Given the description of an element on the screen output the (x, y) to click on. 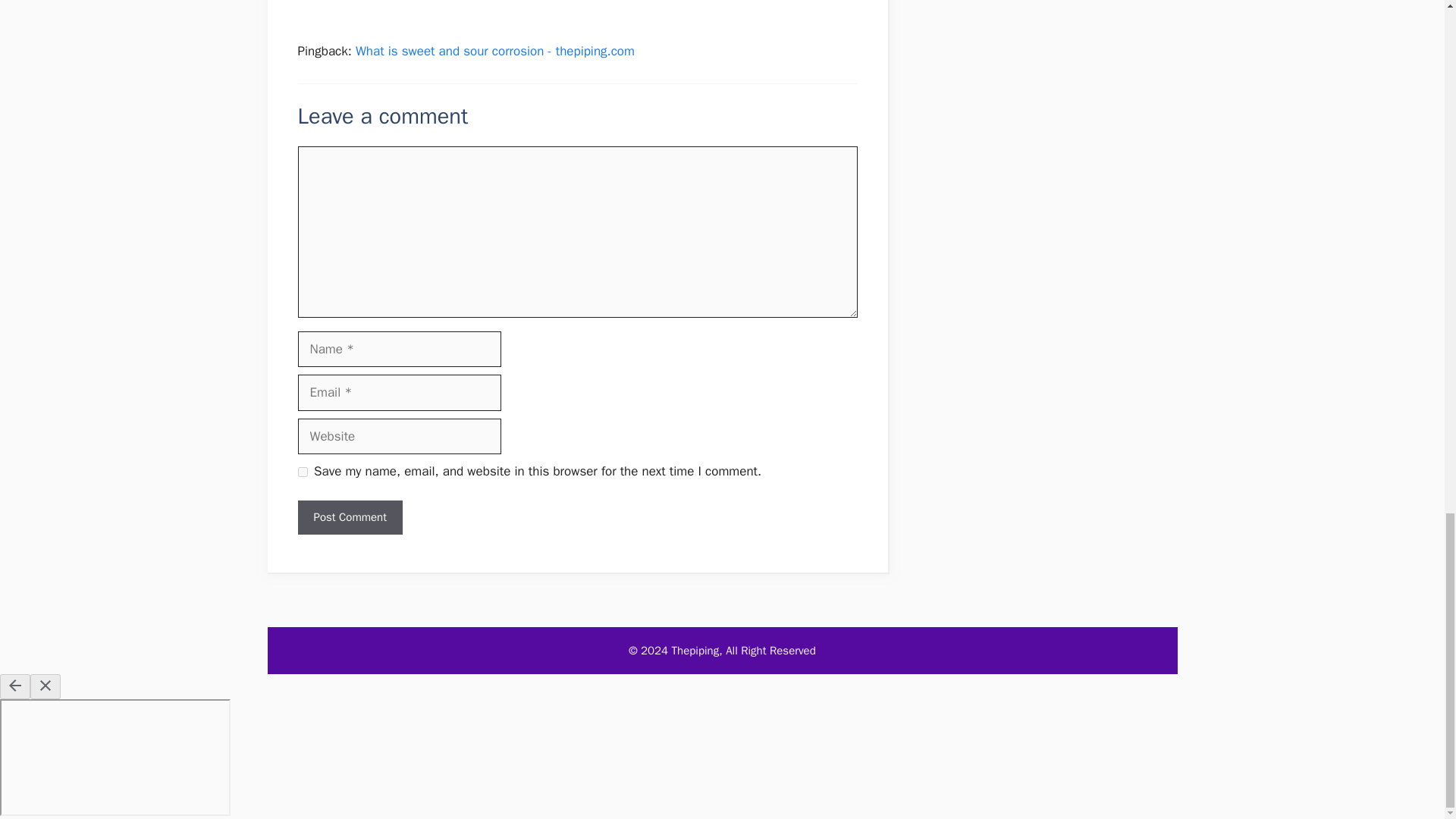
Post Comment (349, 517)
Post Comment (349, 517)
What is sweet and sour corrosion - thepiping.com (494, 50)
yes (302, 471)
